Given the description of an element on the screen output the (x, y) to click on. 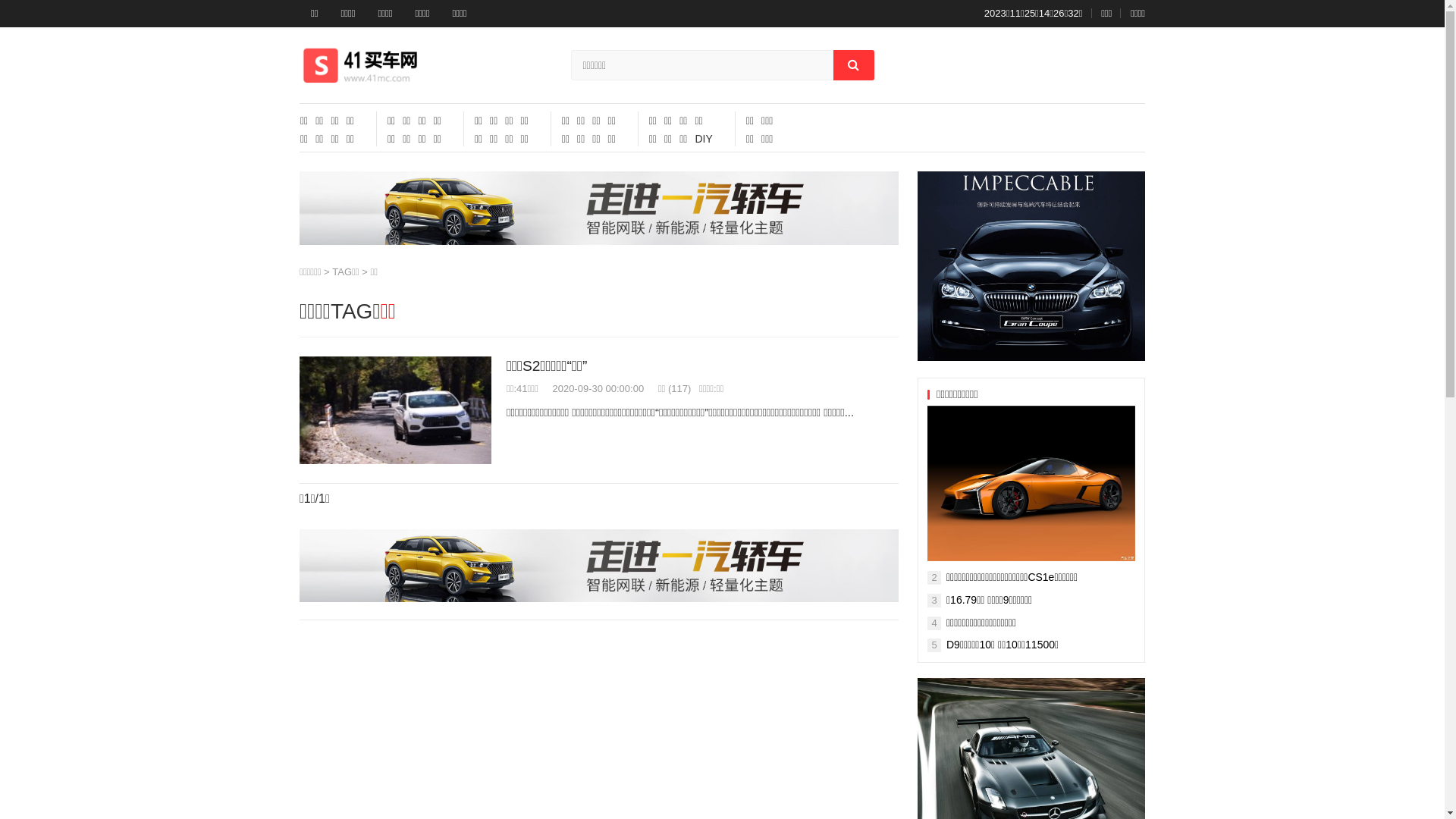
DIY Element type: text (702, 138)
